Given the description of an element on the screen output the (x, y) to click on. 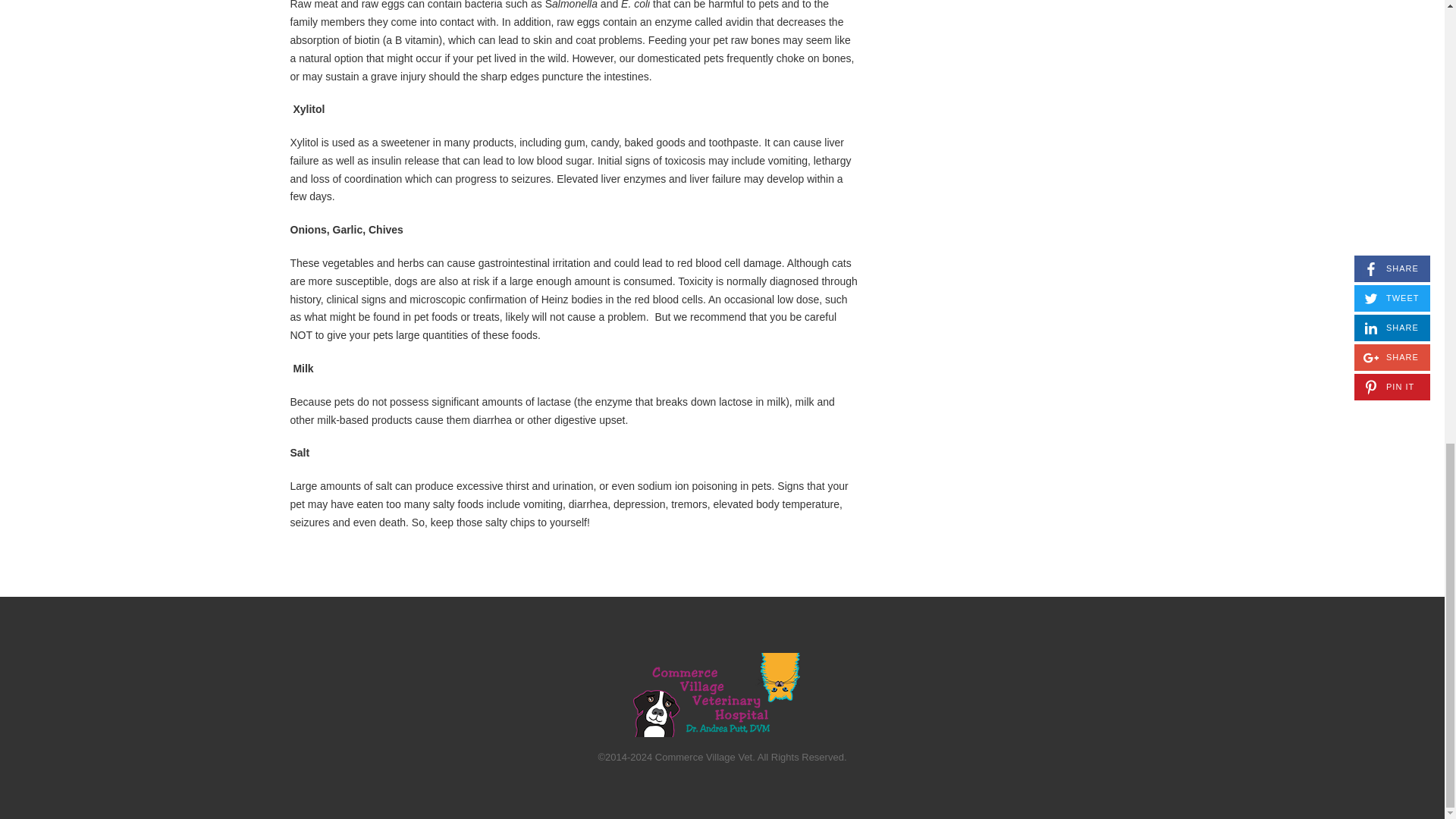
Commerce Village Veterinary Hospital (716, 694)
